Given the description of an element on the screen output the (x, y) to click on. 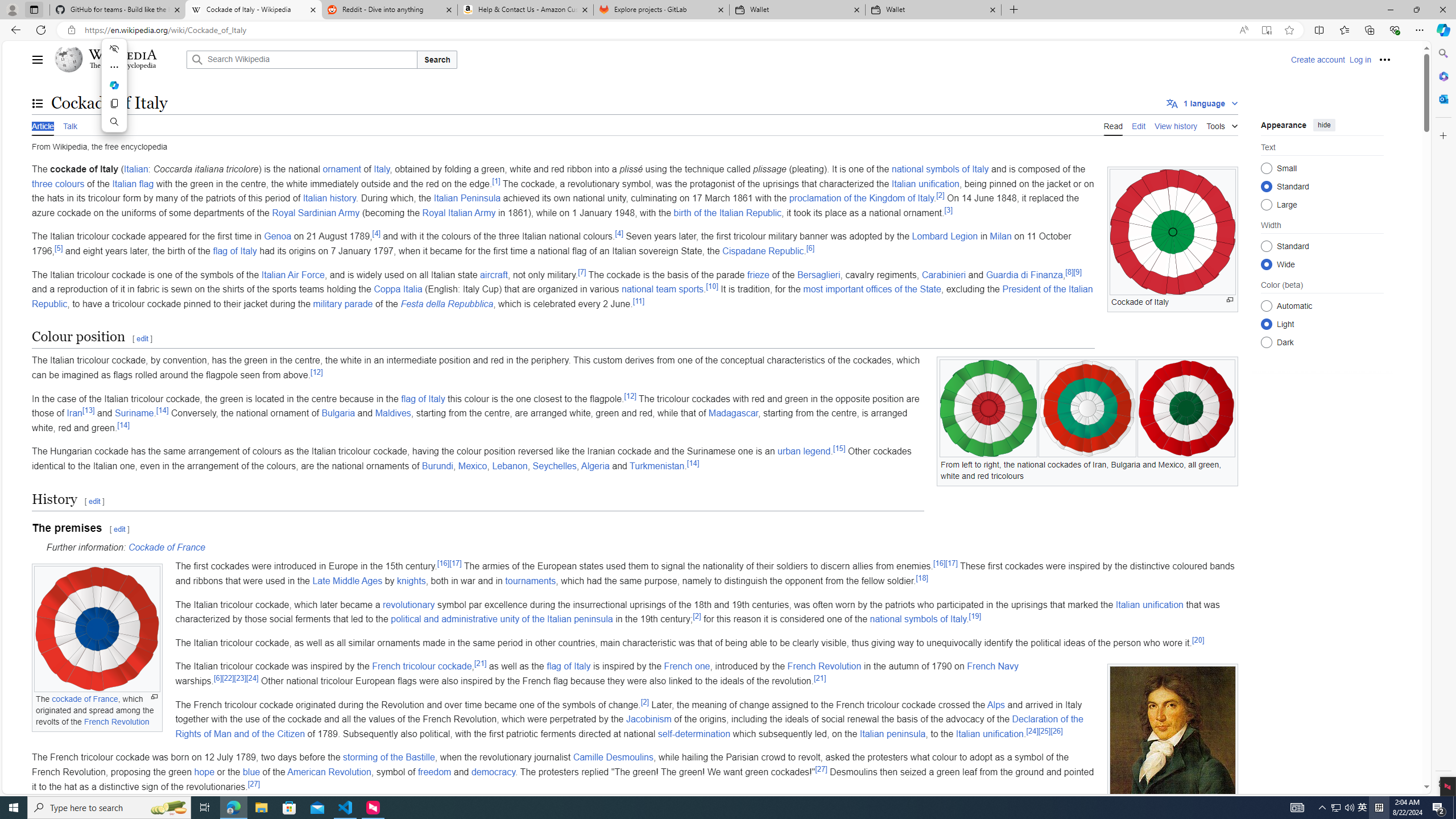
urban legend (804, 451)
storming of the Bastille (388, 757)
Enter Immersive Reader (F9) (1266, 29)
Italian Air Force (292, 274)
Create account (1317, 58)
Log in (1360, 58)
[21] (820, 677)
Suriname (134, 413)
cockade of France (84, 699)
Iran (74, 413)
Talk (69, 124)
Small (1266, 167)
Main menu (37, 59)
